Given the description of an element on the screen output the (x, y) to click on. 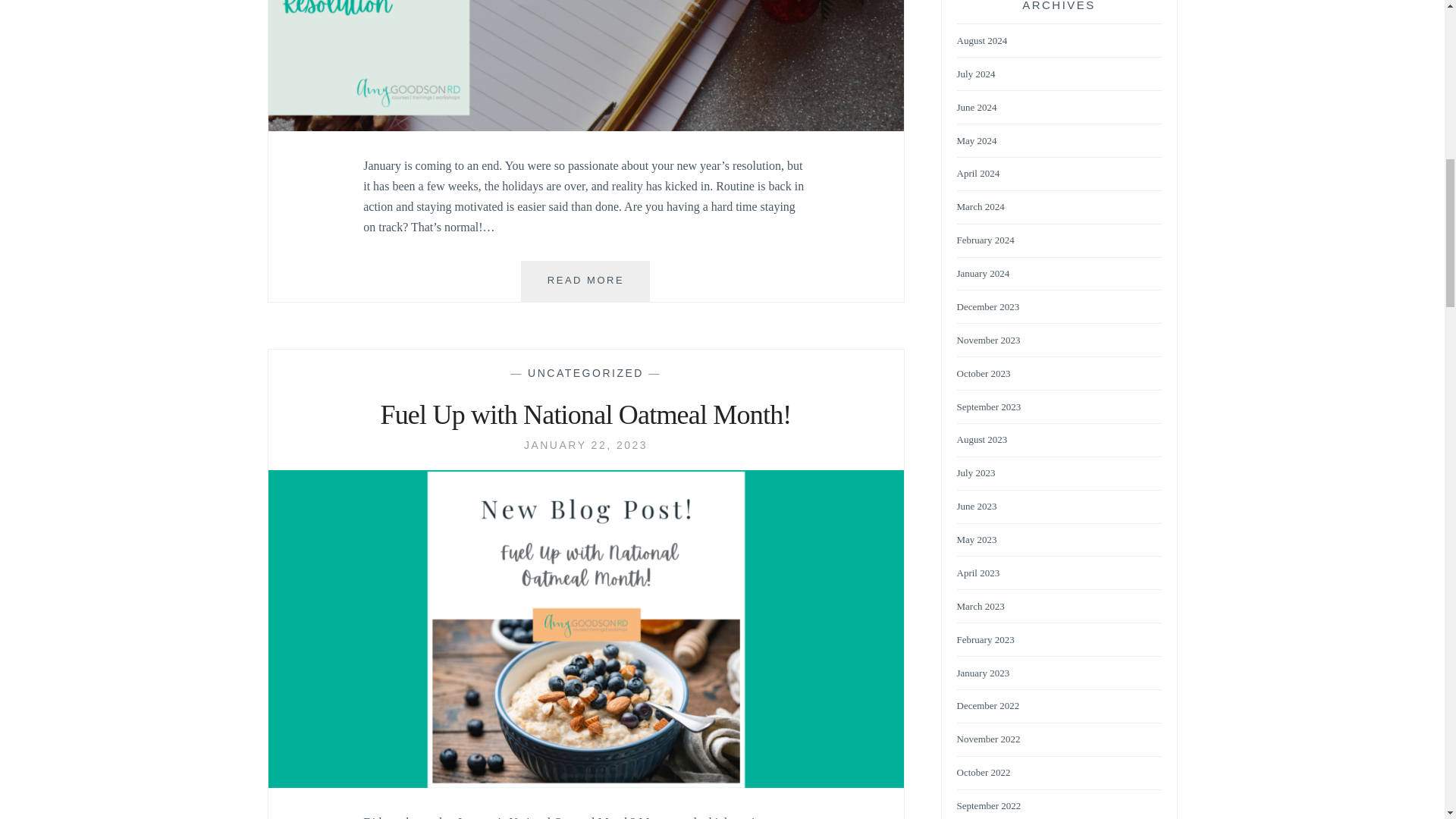
JANUARY 22, 2023 (585, 444)
Fuel Up with National Oatmeal Month! (585, 783)
UNCATEGORIZED (585, 372)
Fuel Up with National Oatmeal Month! (585, 415)
Fuel Up with National Oatmeal Month! (585, 444)
